Given the description of an element on the screen output the (x, y) to click on. 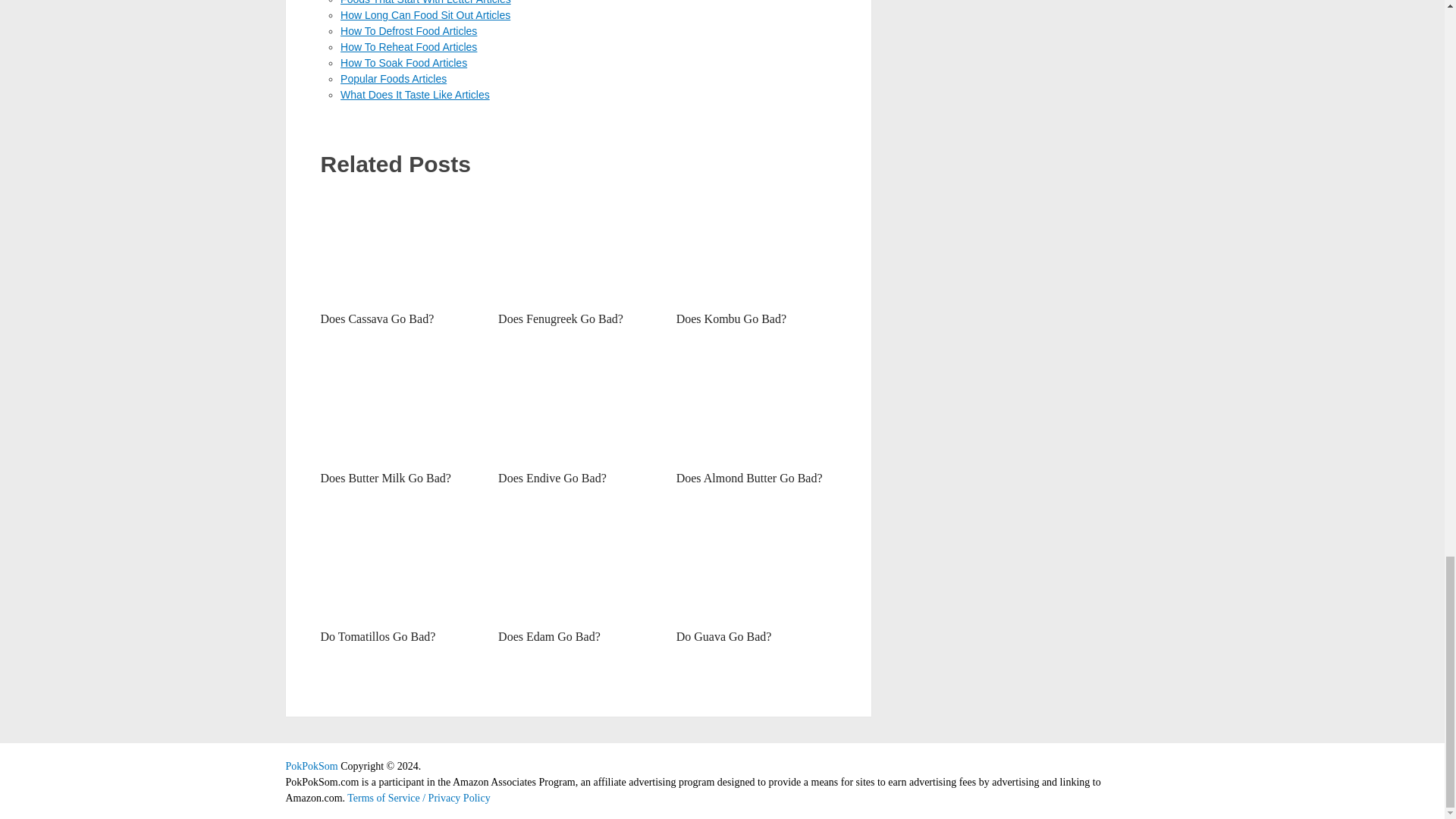
Does Cassava Go Bad? (376, 318)
Does Fenugreek Go Bad? (577, 246)
Does Kombu Go Bad? (756, 246)
Does Endive Go Bad? (577, 405)
Does Fenugreek Go Bad? (560, 318)
Does Kombu Go Bad? (731, 318)
Does Cassava Go Bad? (400, 246)
Does Butter Milk Go Bad? (400, 405)
Does Butter Milk Go Bad? (384, 477)
